Given the description of an element on the screen output the (x, y) to click on. 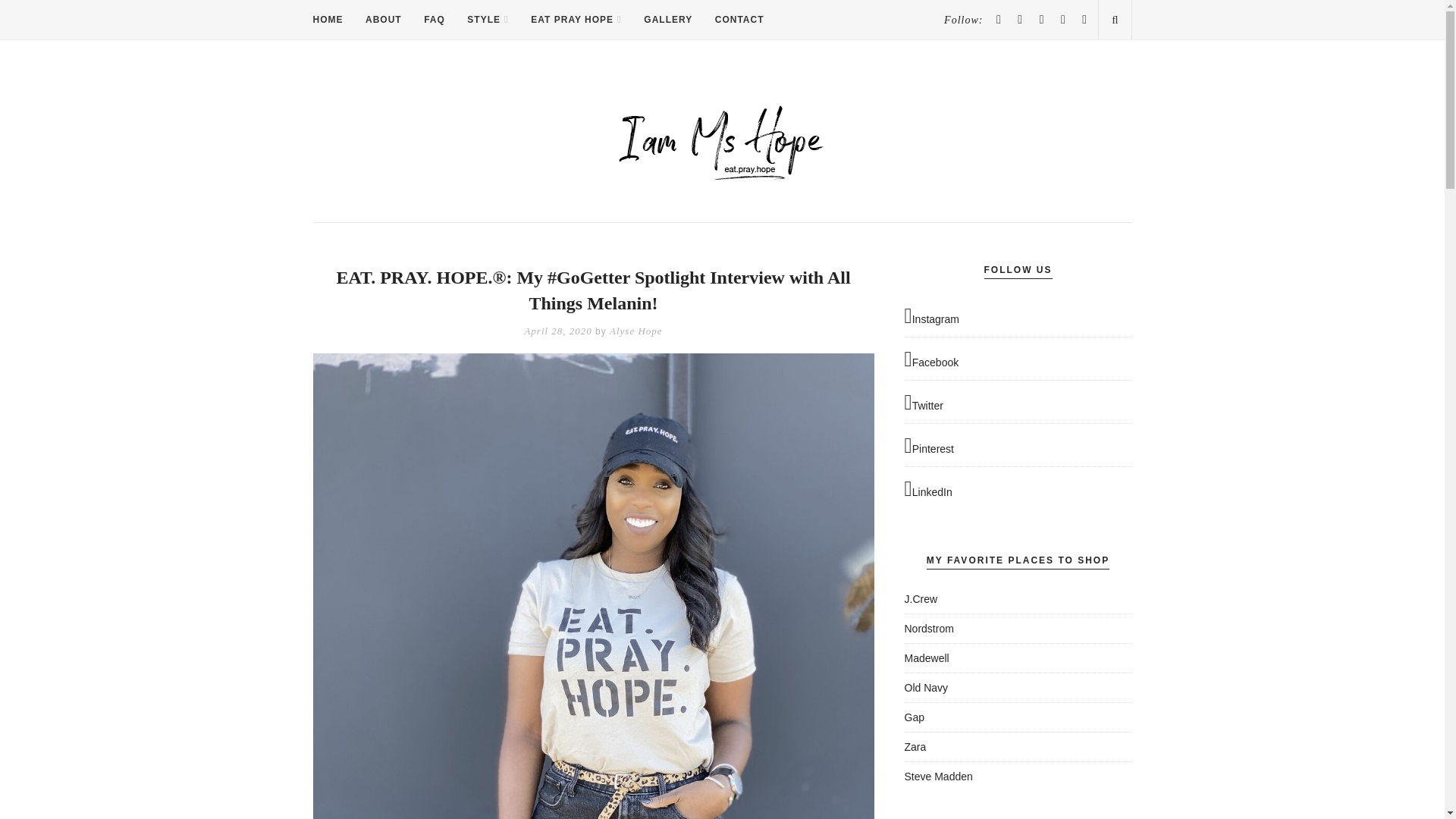
STYLE (487, 19)
Visit I Am Ms. Hope on Facebook (1017, 360)
Visit I Am Ms. Hope on Instagram (1017, 317)
GALLERY (668, 19)
Visit I Am Ms. Hope on Twitter (1017, 403)
EAT PRAY HOPE (576, 19)
Alyse Hope (636, 330)
Visit I Am Ms. Hope on LinkedIn (1017, 490)
CONTACT (739, 19)
ABOUT (383, 19)
